Given the description of an element on the screen output the (x, y) to click on. 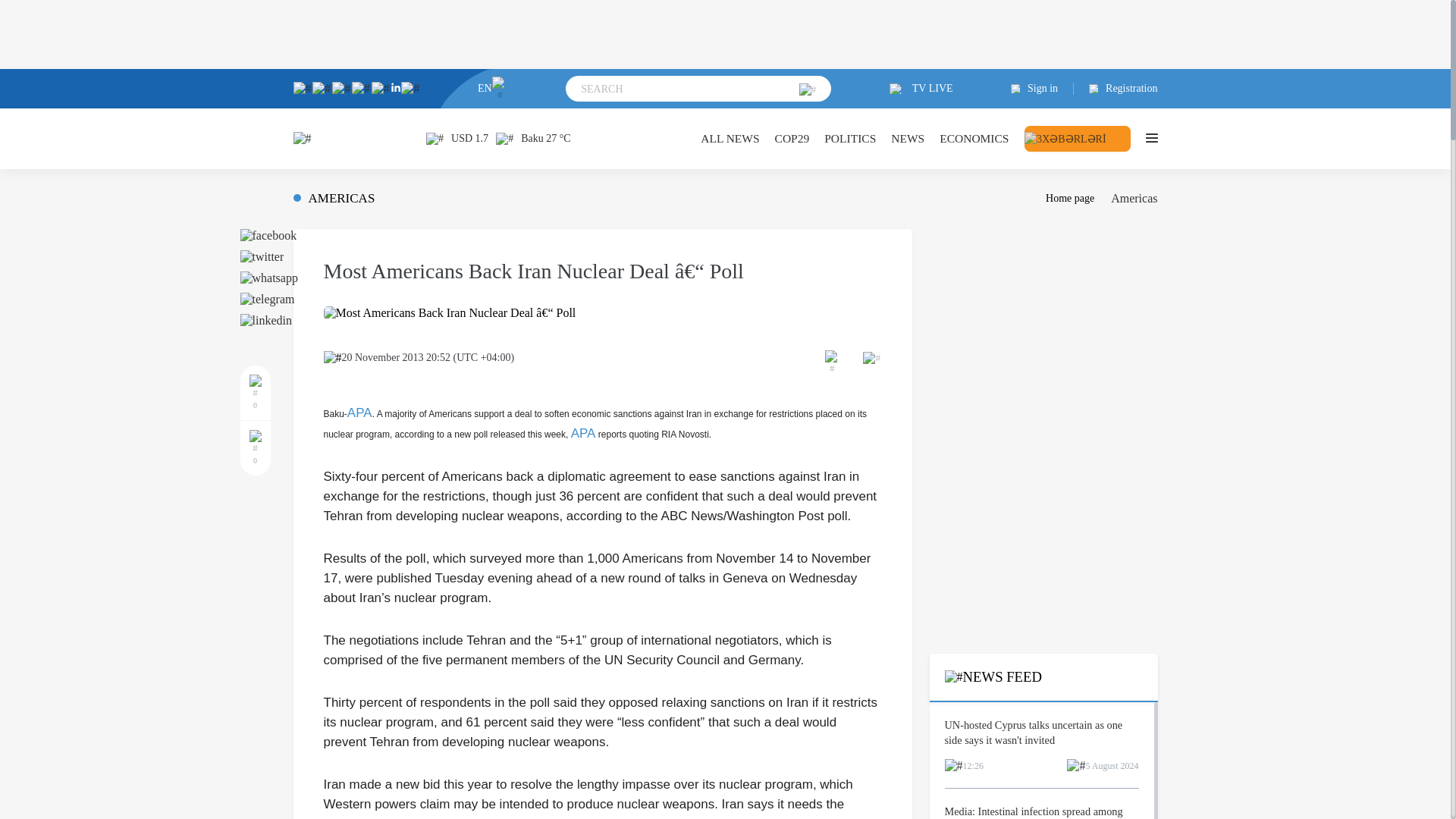
ALL NEWS (729, 138)
ECONOMICS (974, 138)
NEWS (907, 138)
USD 1.7 (456, 138)
Registration (1115, 88)
EN (492, 88)
Sign in (1042, 88)
TV LIVE (921, 88)
COP29 (791, 138)
POLITICS (850, 138)
